Given the description of an element on the screen output the (x, y) to click on. 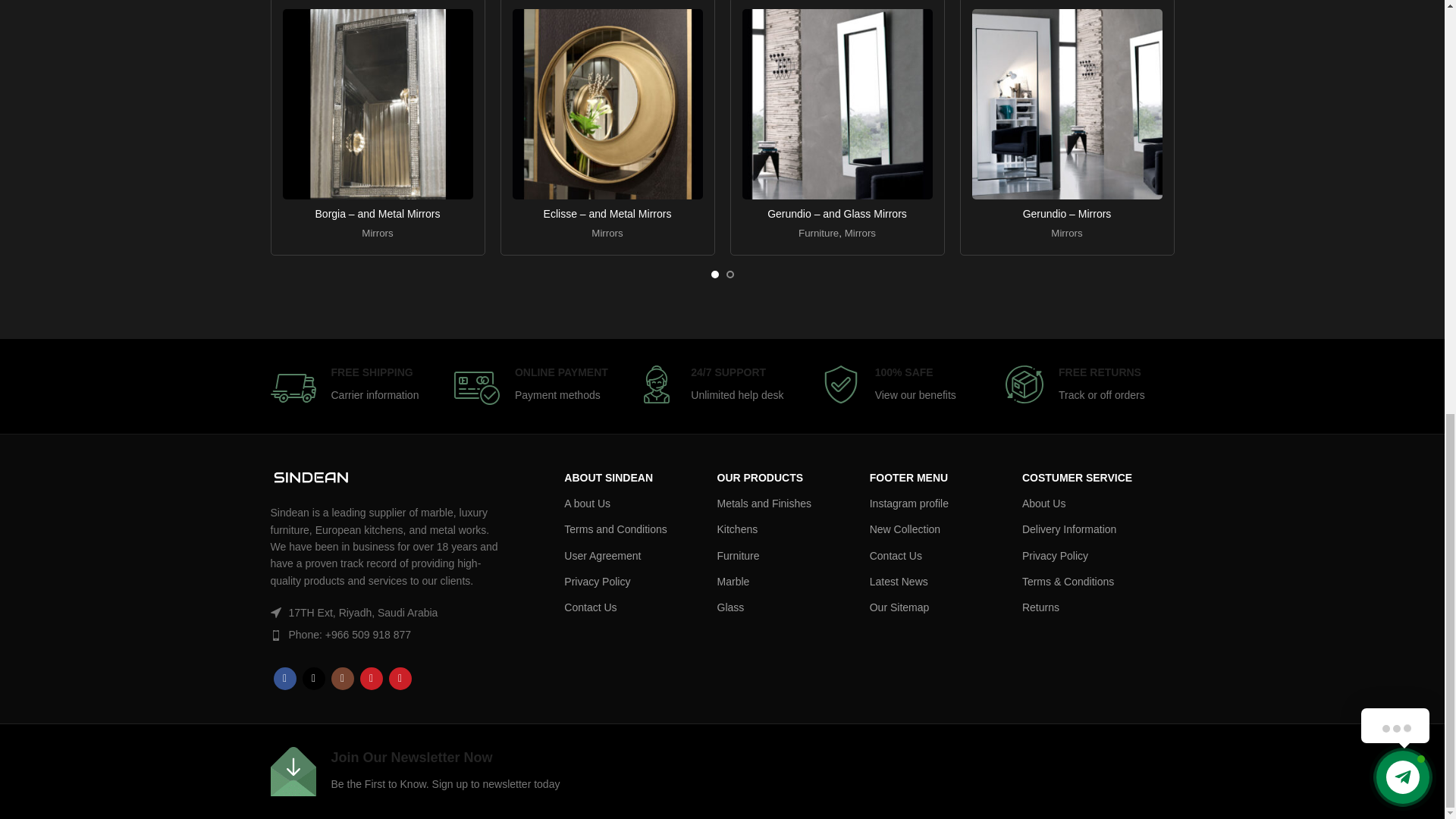
retail-2-safe.svg (841, 384)
retail-2-support.svg (656, 384)
retail-2-return.svg (1024, 384)
retail-2-online-payment.svg (476, 388)
retail-2-shipping.svg (292, 388)
wd-cursor-dark.svg (275, 612)
